Given the description of an element on the screen output the (x, y) to click on. 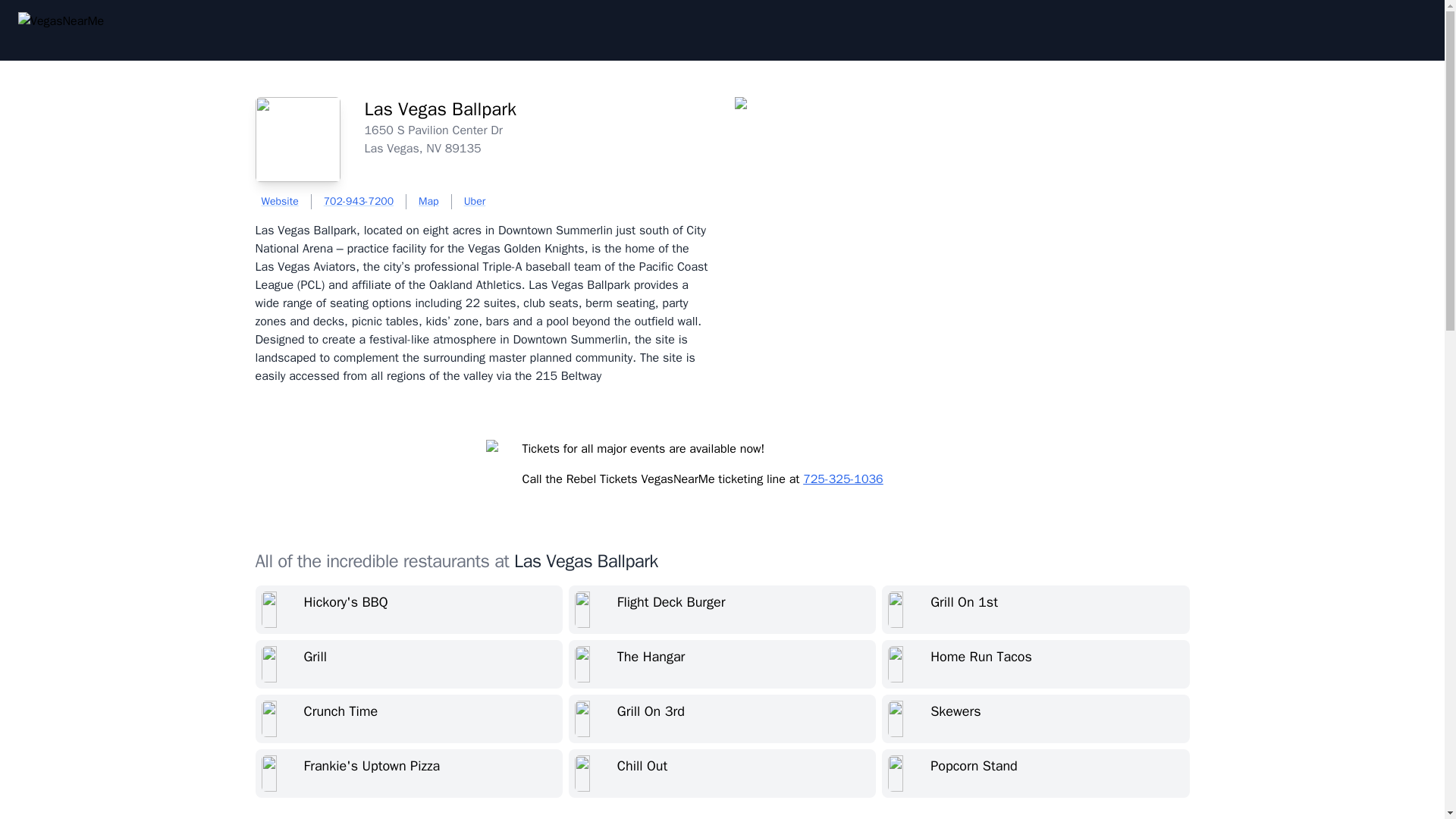
The Hangar (722, 663)
Popcorn Stand (1035, 773)
702-943-7200 (358, 201)
VegasNearMe (66, 30)
Grill (408, 663)
725-325-1036 (843, 478)
Skewers (1035, 718)
Map (429, 201)
Flight Deck Burger (722, 609)
Chill Out (722, 773)
